Given the description of an element on the screen output the (x, y) to click on. 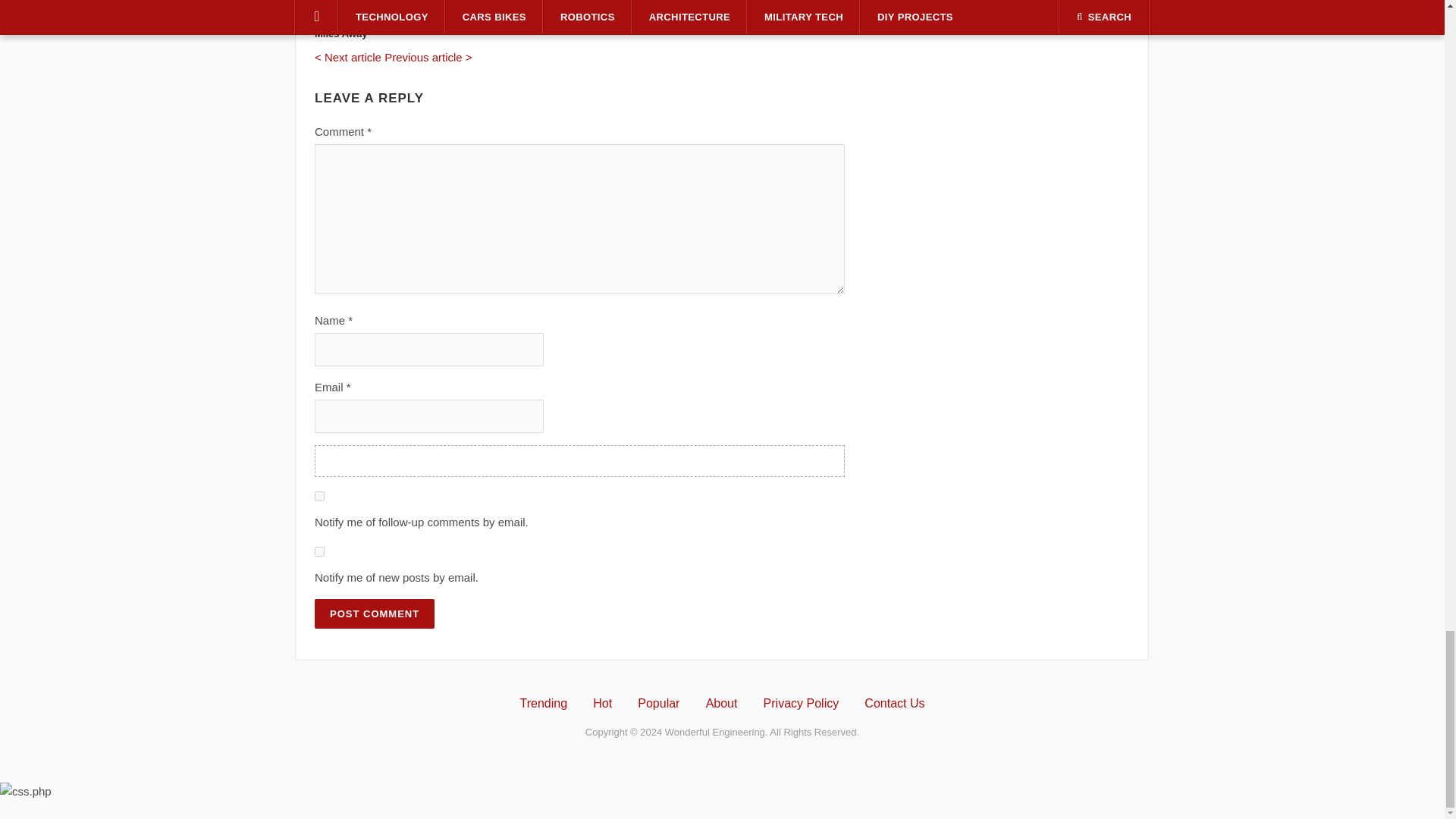
subscribe (319, 551)
subscribe (319, 496)
Post Comment (373, 613)
